Given the description of an element on the screen output the (x, y) to click on. 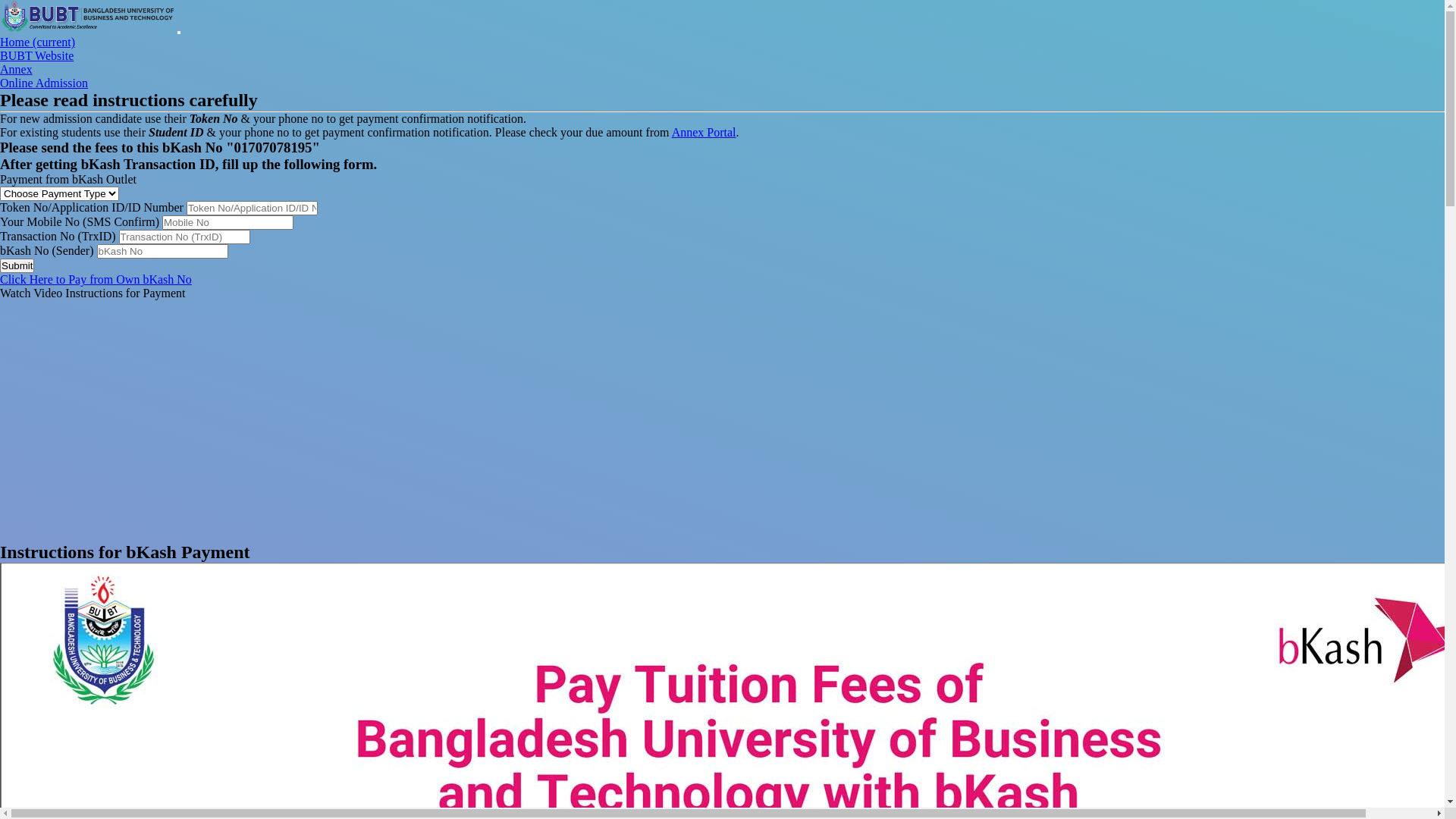
Watch Video Instructions for Payment Element type: text (92, 292)
Annex Element type: text (16, 68)
Home (current) Element type: text (37, 41)
BUBT Website Element type: text (36, 55)
Annex Portal Element type: text (703, 131)
Payment from bKash Outlet Element type: text (68, 178)
Click Here to Pay from Own bKash No Element type: text (95, 279)
Online Admission Element type: text (43, 82)
Submit Element type: text (17, 265)
